Given the description of an element on the screen output the (x, y) to click on. 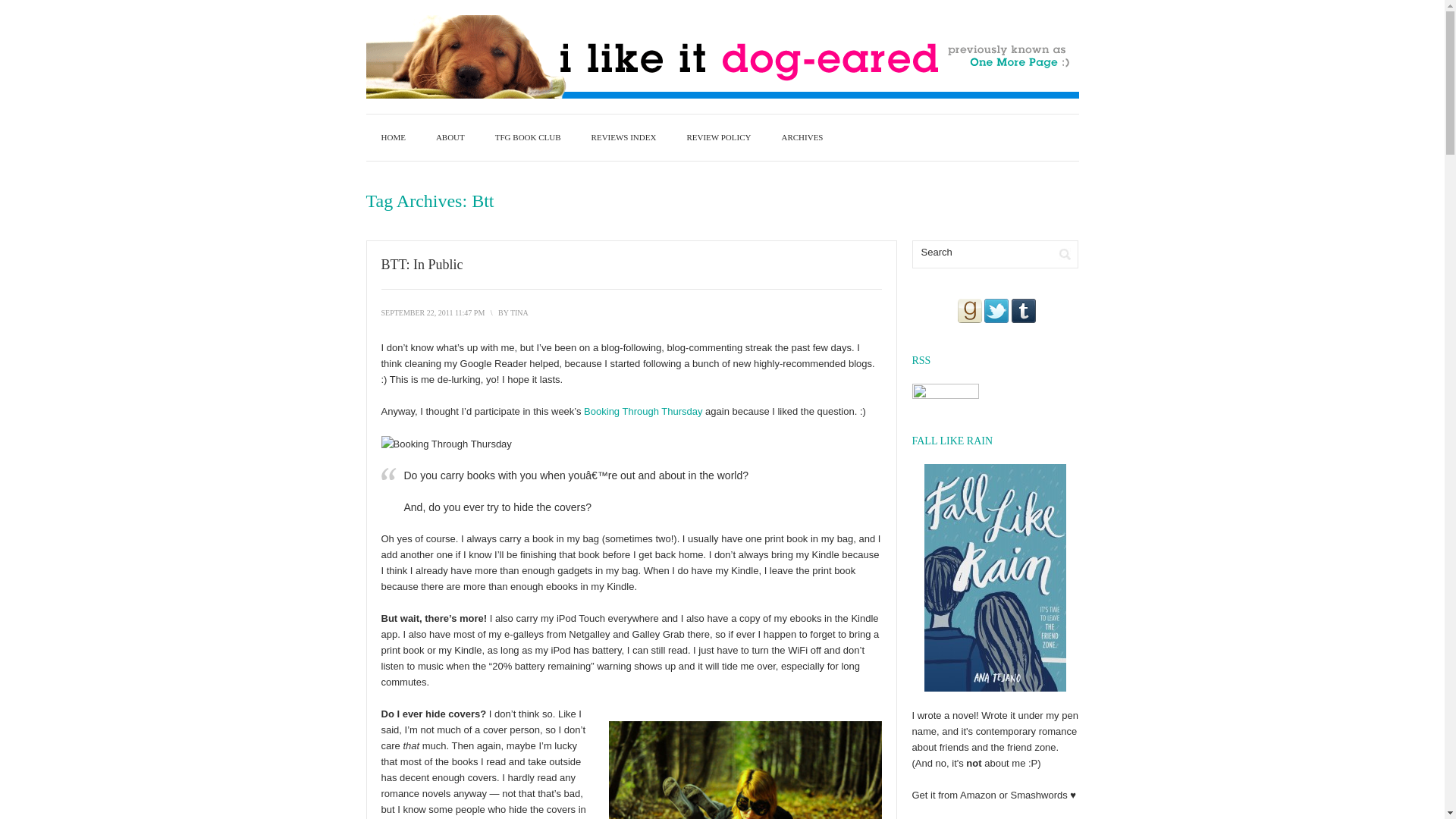
Booking Through Thursday (445, 443)
by Tina (519, 312)
ABOUT (450, 137)
REVIEW POLICY (718, 137)
Booking Through Thursday (642, 410)
Search (1064, 253)
BTT: In Public (432, 312)
Booking Through Thursday (642, 410)
BTT: In Public (421, 264)
SEPTEMBER 22, 2011 11:47 PM (432, 312)
TINA (519, 312)
readingpublic (744, 770)
ARCHIVES (801, 137)
TFG BOOK CLUB (528, 137)
Permalink to BTT: In Public (421, 264)
